Given the description of an element on the screen output the (x, y) to click on. 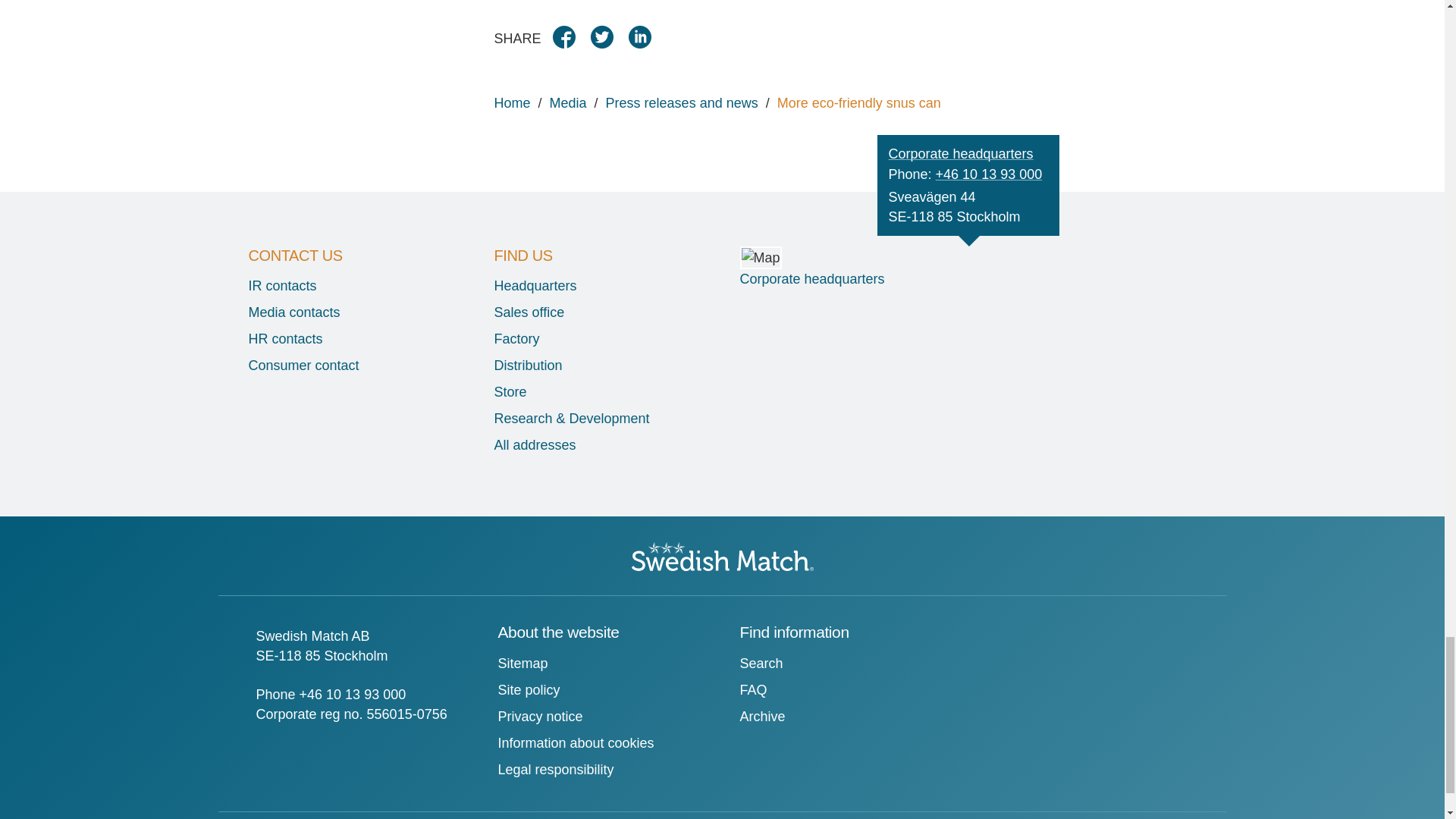
facebook (569, 387)
LinkedIn (645, 387)
Twitter (607, 387)
